Given the description of an element on the screen output the (x, y) to click on. 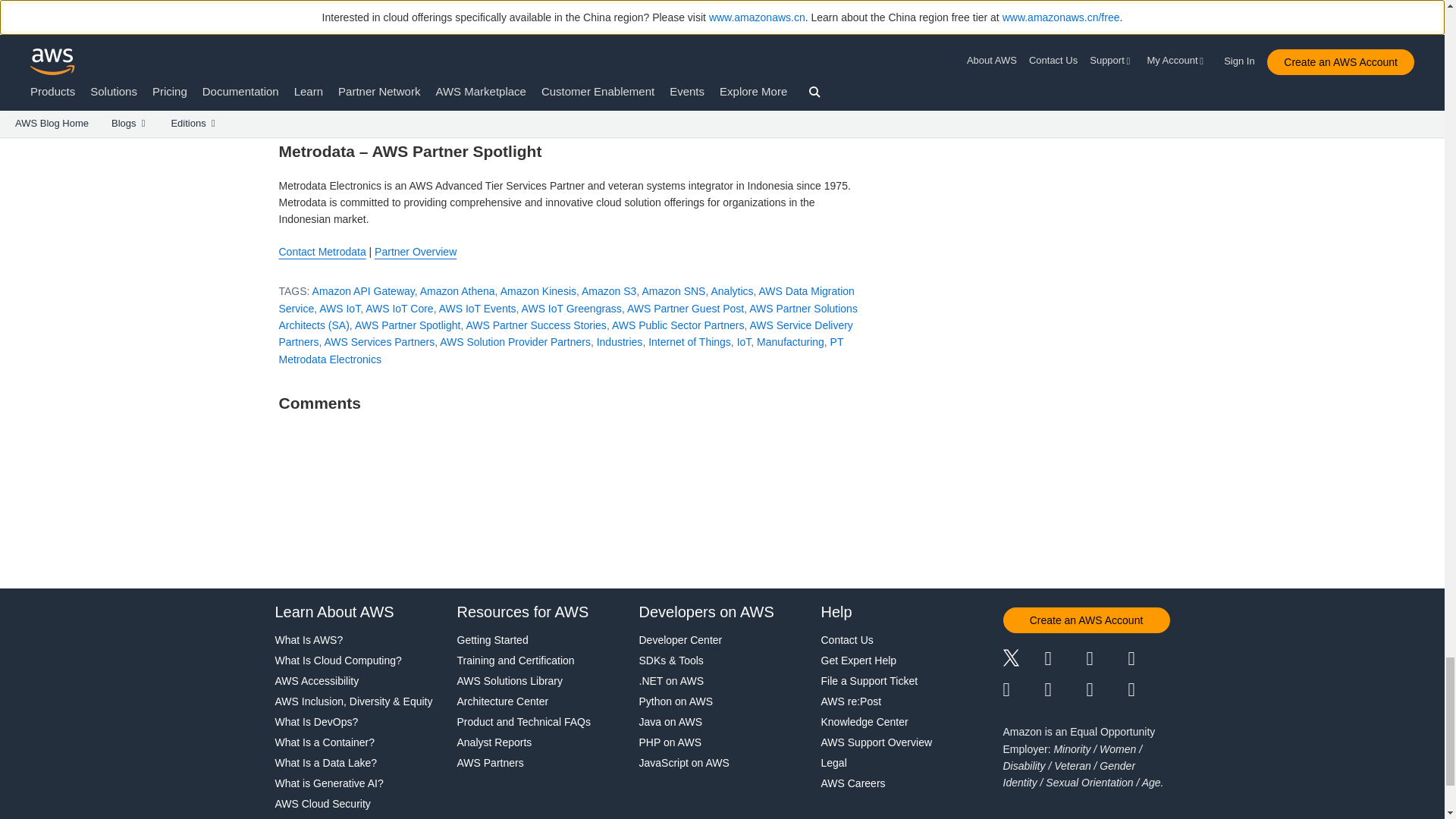
Instagram (1149, 659)
Linkedin (1106, 659)
Twitch (1023, 690)
Twitter (1023, 659)
Facebook (1065, 659)
